Given the description of an element on the screen output the (x, y) to click on. 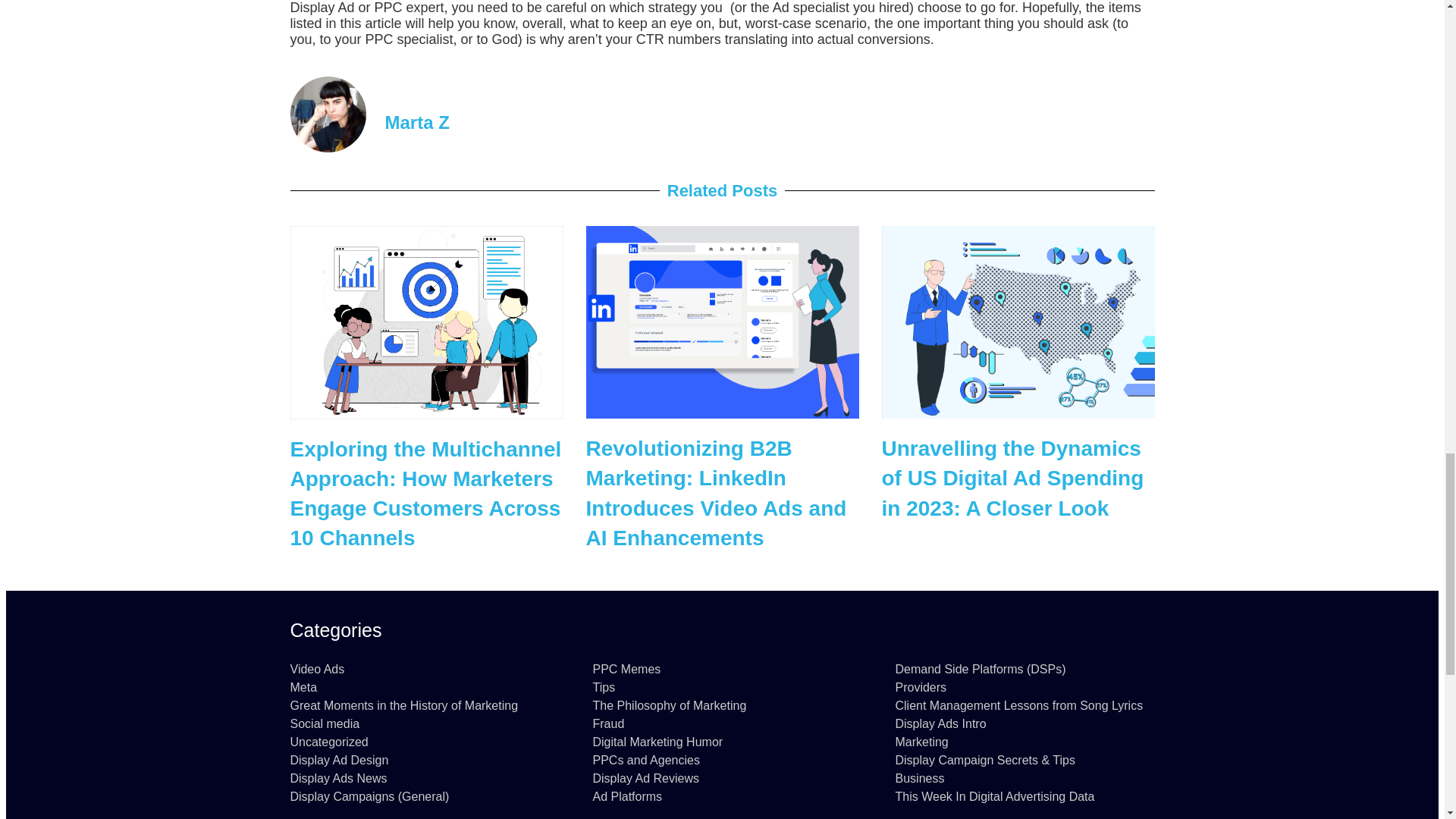
PPCs and Agencies (721, 760)
Display Ad Reviews (721, 778)
Video Ads (418, 669)
Meta (418, 687)
PPC Memes (721, 669)
Ad Platforms (721, 796)
Tips (721, 687)
Display Ads News (418, 778)
Uncategorized (418, 742)
Digital Marketing Humor (721, 742)
Great Moments in the History of Marketing (418, 705)
Fraud (721, 724)
The Philosophy of Marketing (721, 705)
